Given the description of an element on the screen output the (x, y) to click on. 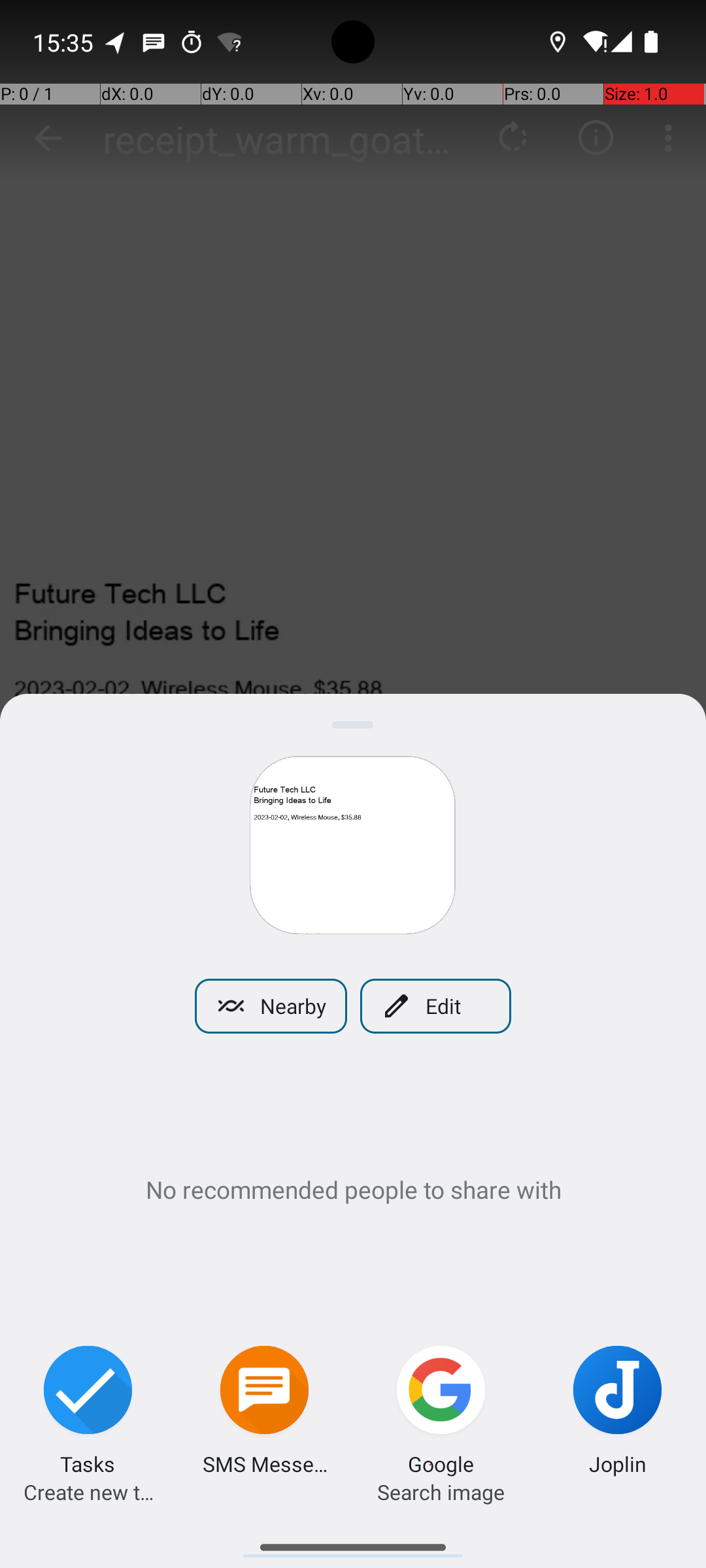
Search image Element type: android.widget.TextView (440, 1491)
